Given the description of an element on the screen output the (x, y) to click on. 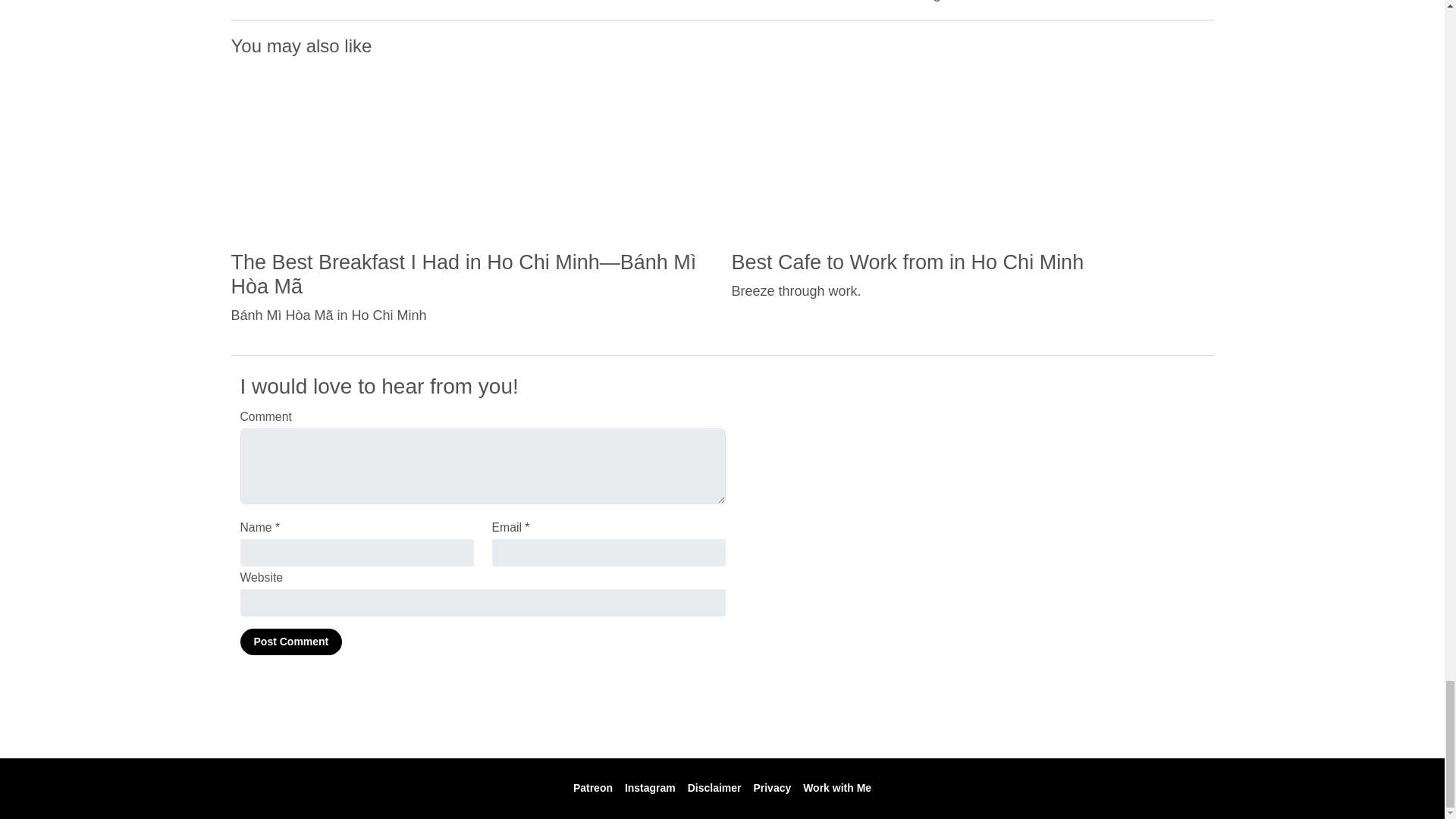
Post Comment (291, 641)
Disclaimer (714, 787)
Best Cafe to Work from in Ho Chi Minh (906, 261)
Instagram (649, 787)
Work with Me (836, 787)
Support me on Patreon (592, 787)
Patreon (592, 787)
Privacy (771, 787)
